Given the description of an element on the screen output the (x, y) to click on. 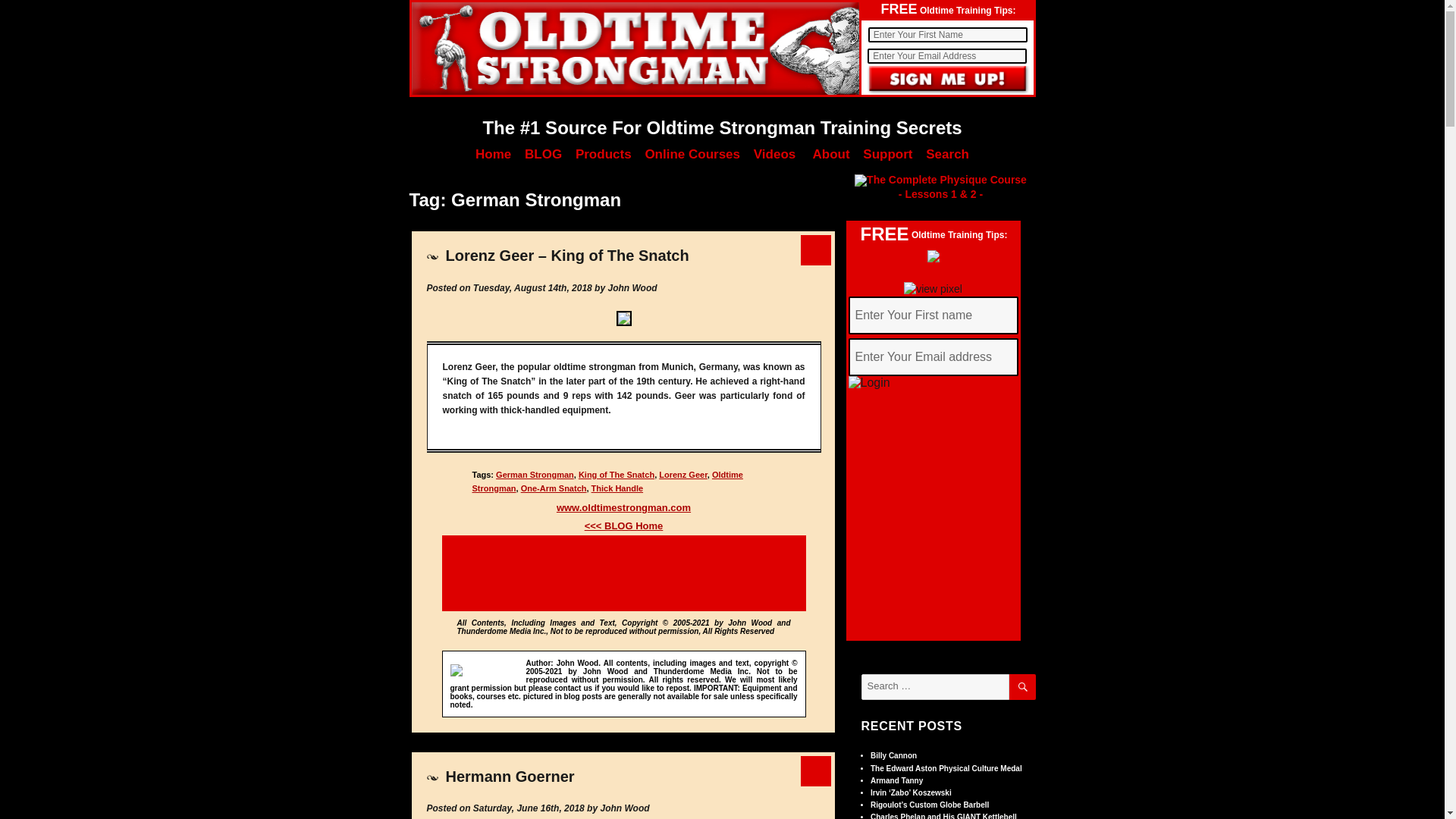
Videos (774, 154)
Lorenz Geer (683, 474)
Please, insert a valid email address. (932, 356)
German Strongman (534, 474)
Please, insert a valid name. (946, 34)
Thick Handle (617, 488)
www.oldtimestrongman.com (623, 507)
Oldtime Strongman (606, 481)
6524670f6c74e652d7b9b7ae (947, 80)
King of The Snatch (615, 474)
Billy Cannon (893, 755)
Support (887, 154)
Please, insert a valid email address. (946, 55)
652473c66a49537fc792c627 (932, 382)
Products (603, 154)
